Given the description of an element on the screen output the (x, y) to click on. 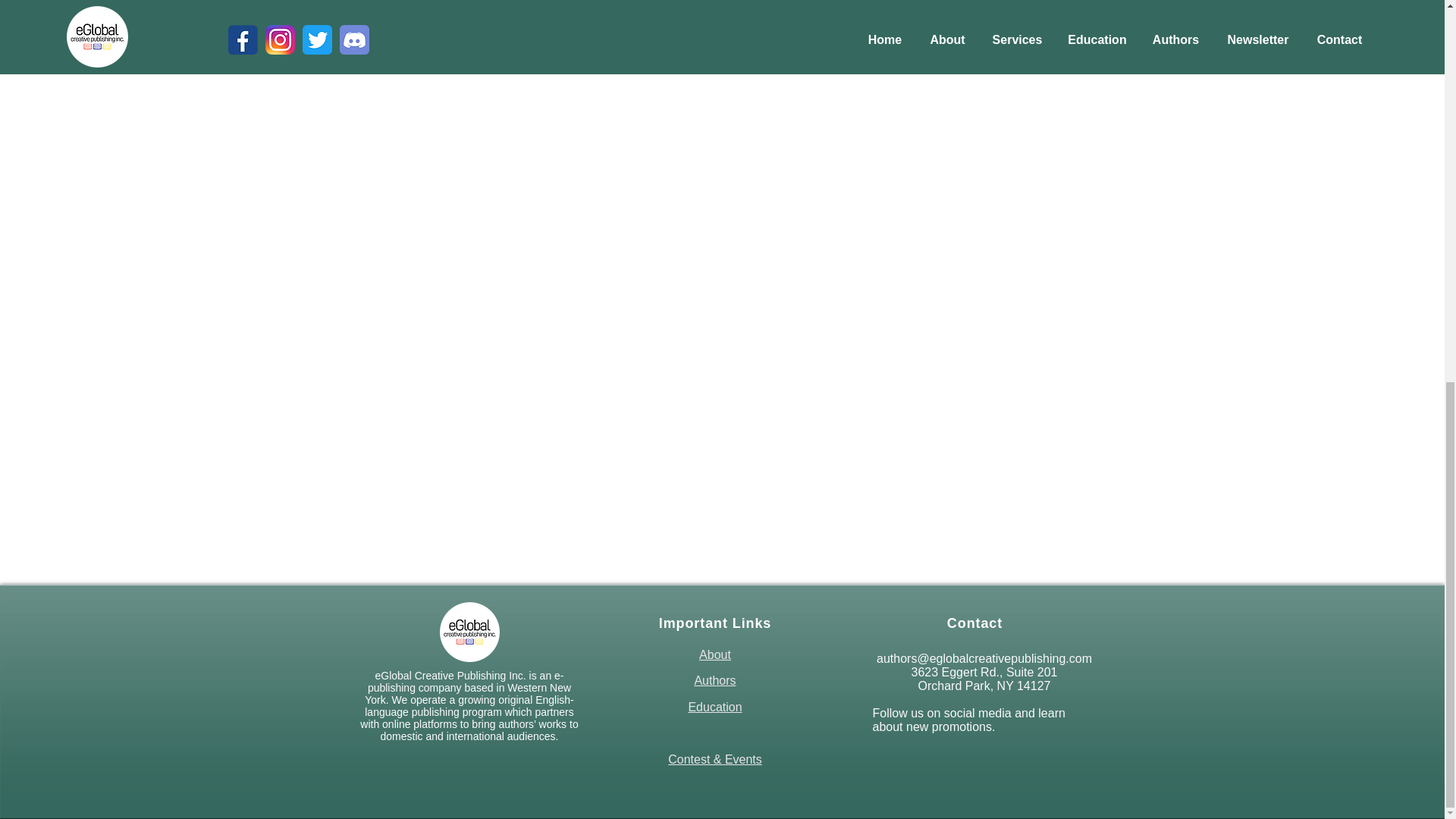
Authors (714, 680)
Education (714, 707)
About (714, 654)
